Given the description of an element on the screen output the (x, y) to click on. 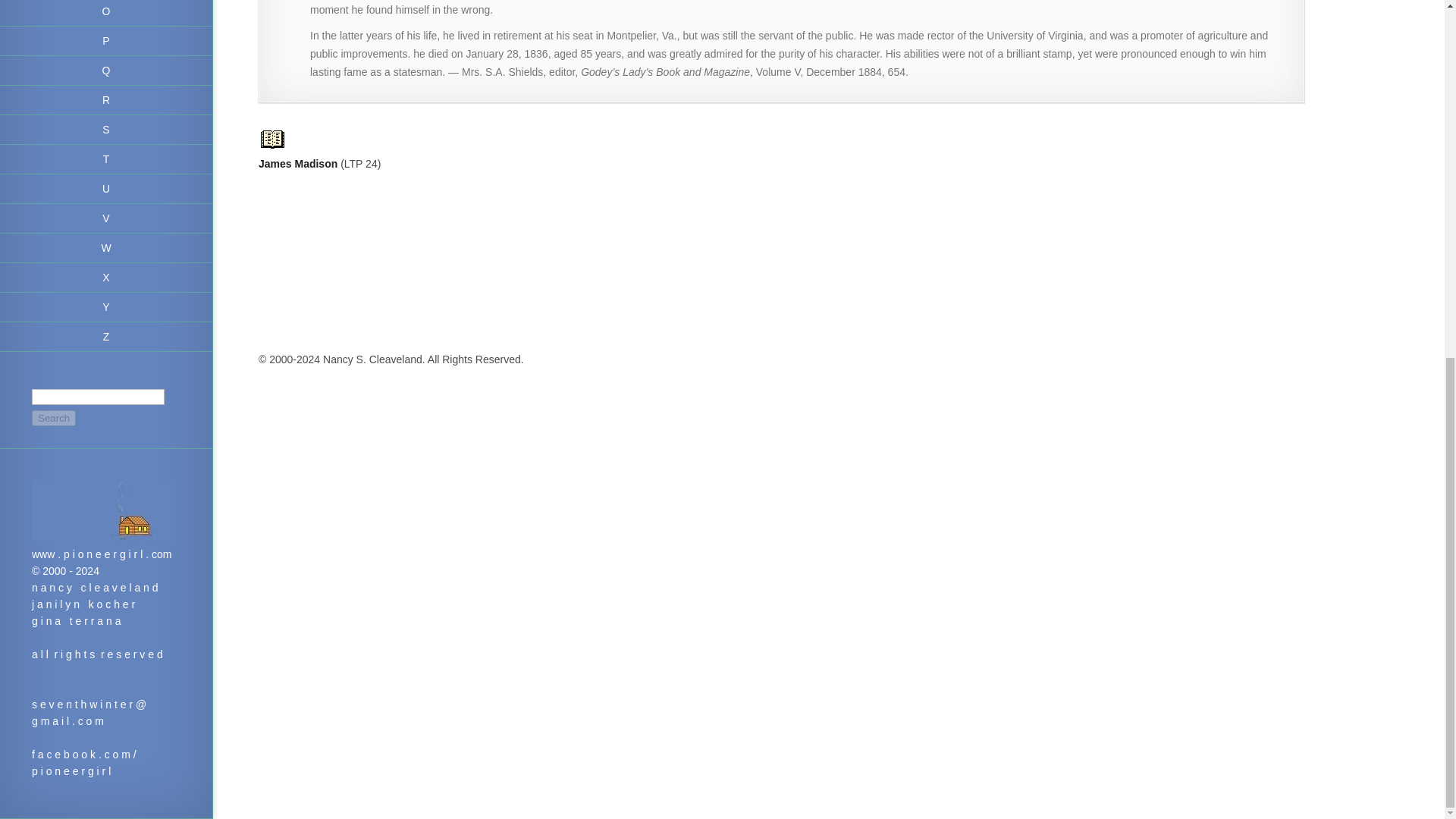
U (106, 188)
S (106, 129)
W (106, 247)
T (106, 159)
Q (106, 70)
V (106, 218)
Search (53, 417)
R (106, 100)
X (106, 277)
Z (106, 337)
